Given the description of an element on the screen output the (x, y) to click on. 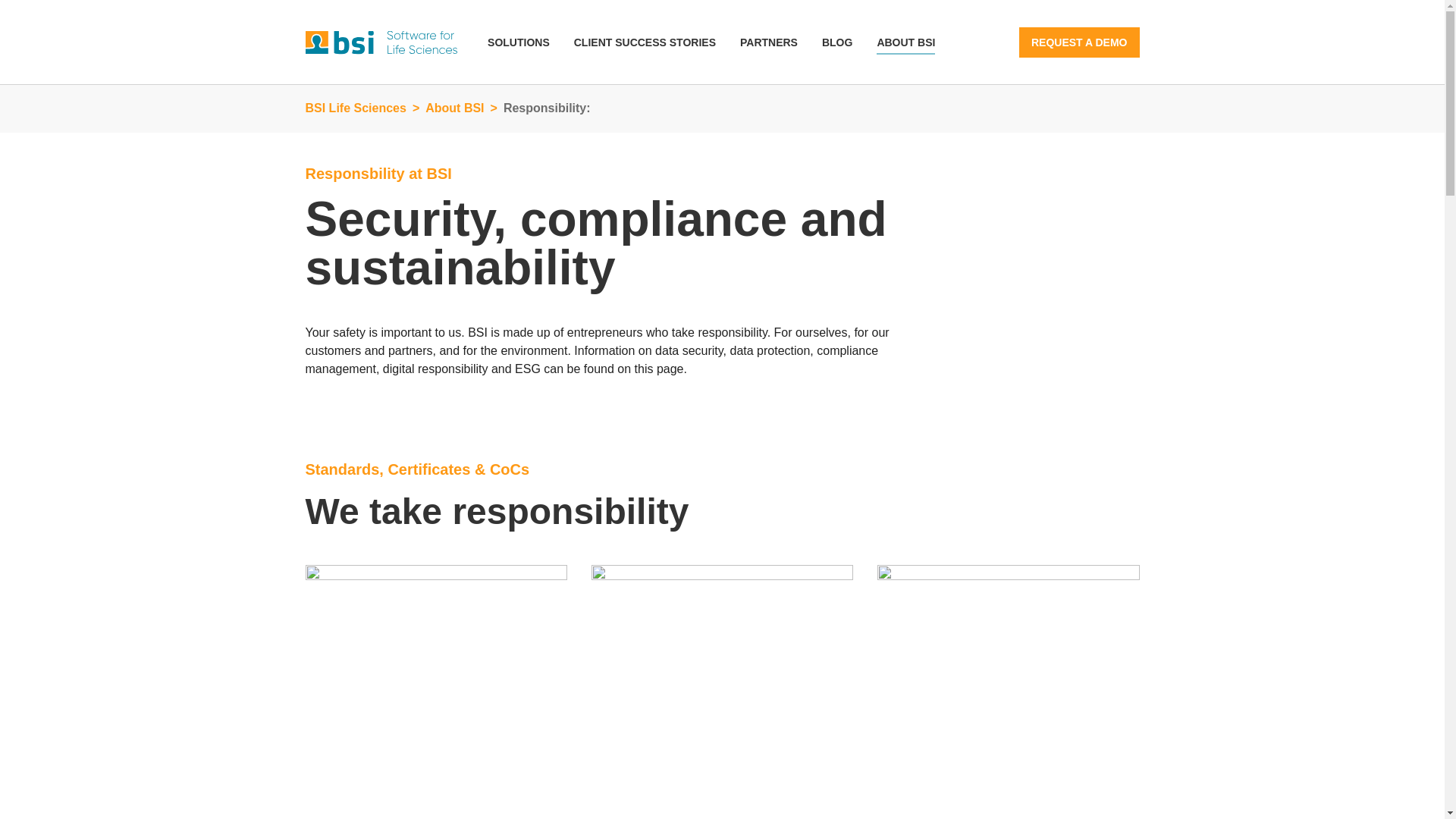
BSI Life Sciences (355, 107)
Solutions (519, 42)
ABOUT BSI (905, 42)
Client Success Stories (645, 42)
PARTNERS (768, 42)
REQUEST A DEMO (1079, 42)
About BSI (454, 107)
Blog (836, 42)
BLOG (836, 42)
SOLUTIONS (519, 42)
